Given the description of an element on the screen output the (x, y) to click on. 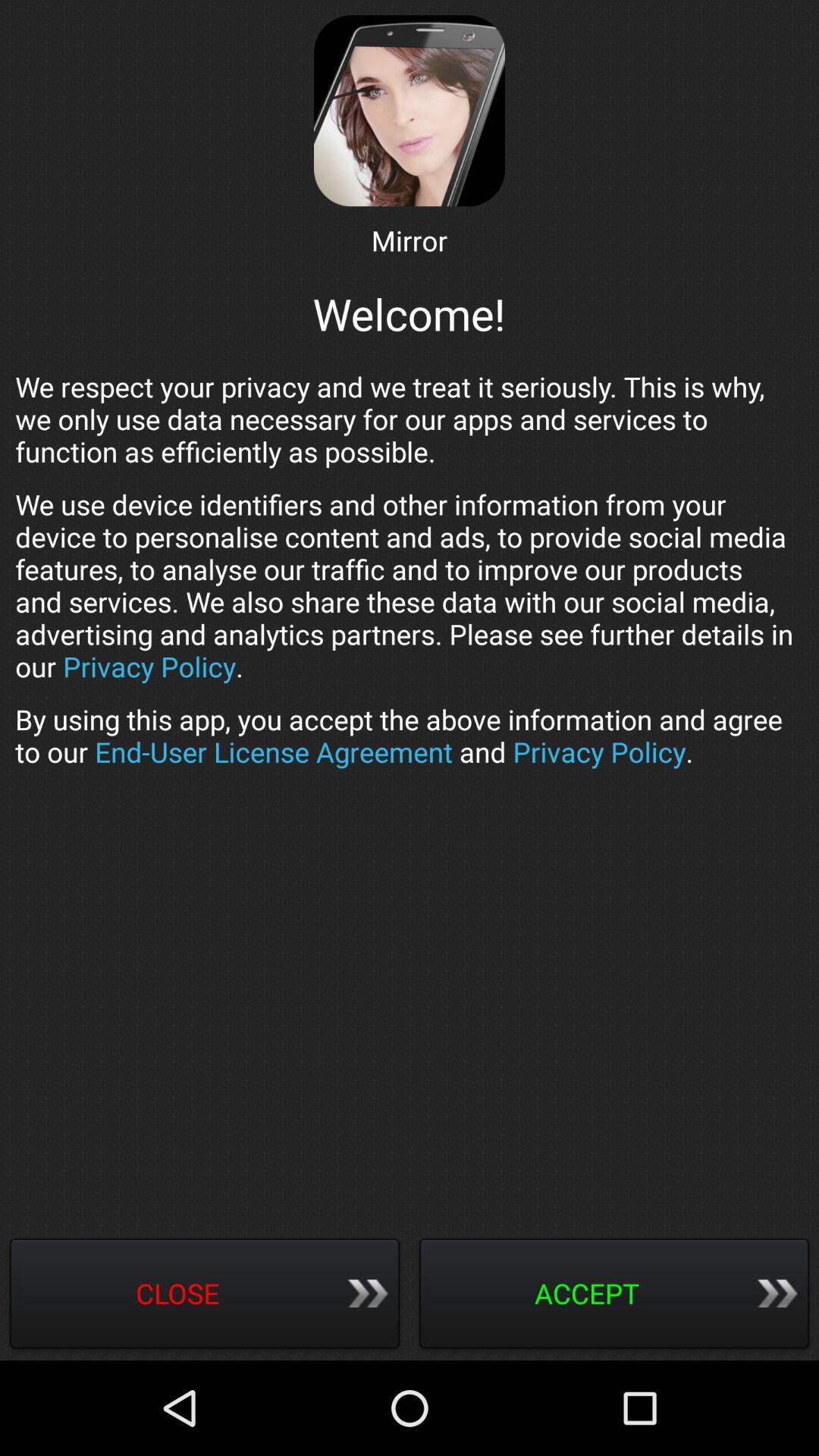
swipe until close button (204, 1295)
